Given the description of an element on the screen output the (x, y) to click on. 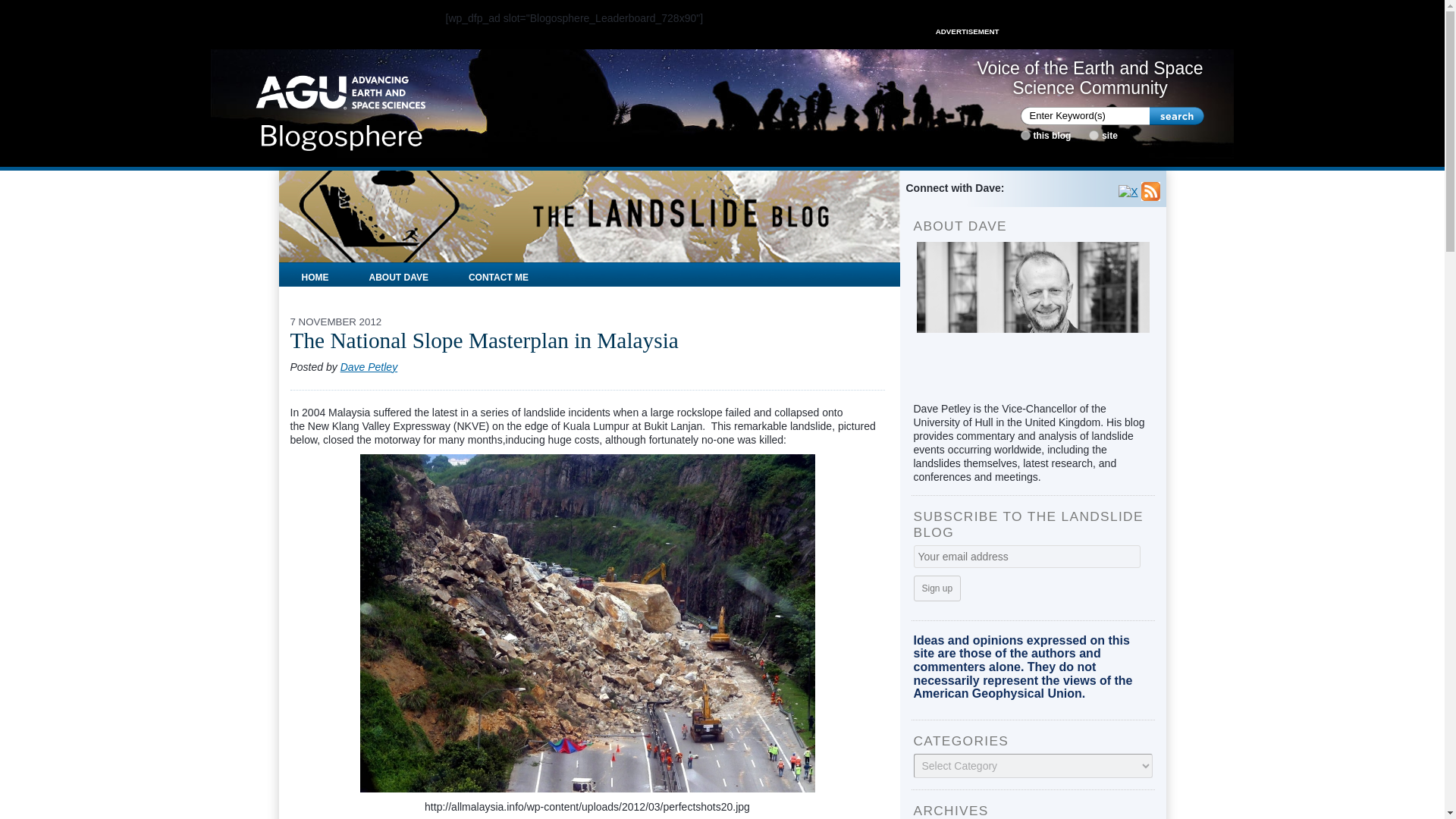
The National Slope Masterplan in Malaysia (483, 340)
Permanent Link to The National Slope Masterplan in Malaysia (483, 340)
Dave Petley (368, 367)
CONTACT ME (498, 274)
blog (1025, 135)
Sign up (936, 588)
HOME (314, 274)
ABOUT DAVE (398, 274)
Sign up (936, 588)
